Given the description of an element on the screen output the (x, y) to click on. 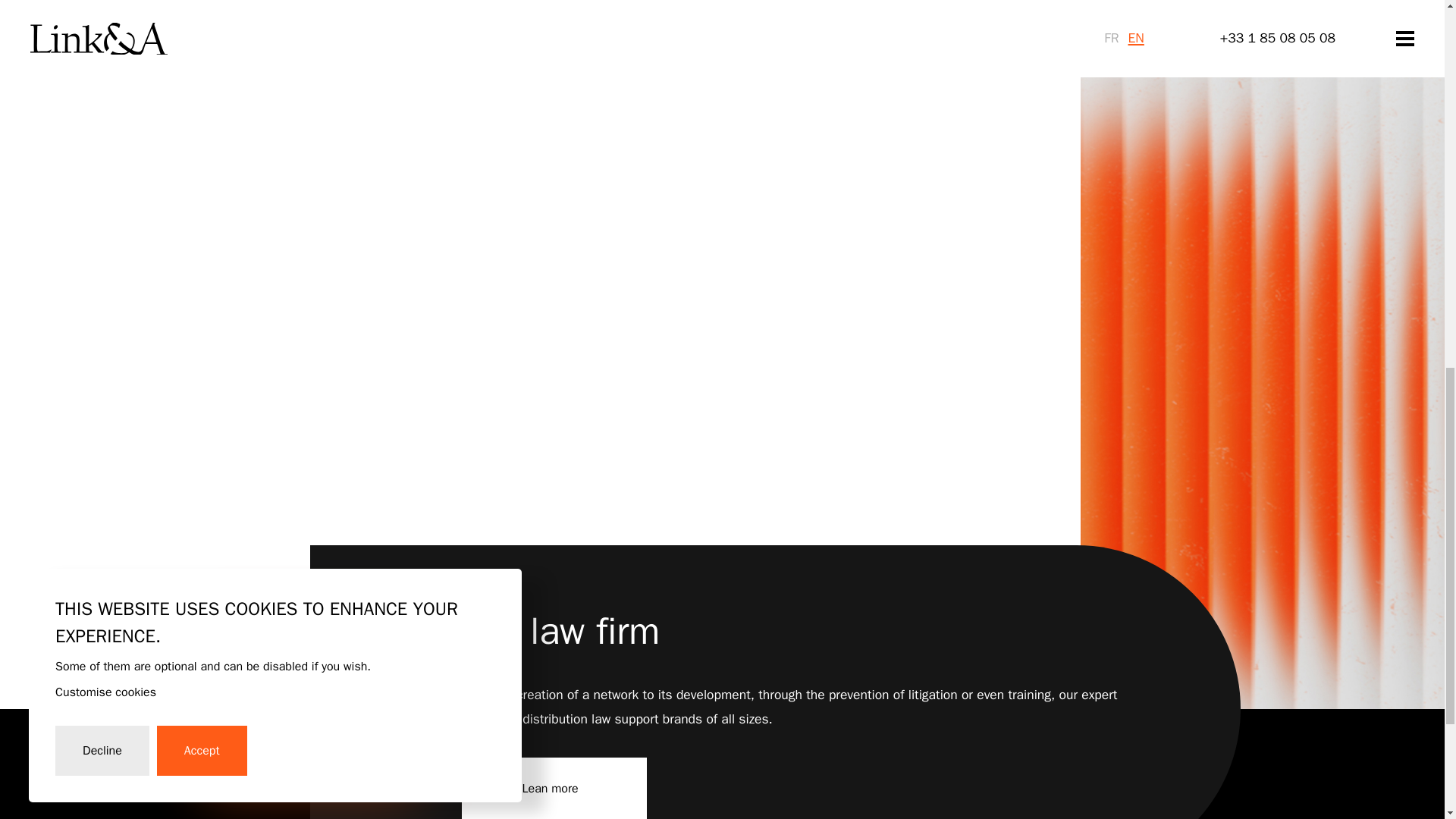
Lean more (553, 788)
